Given the description of an element on the screen output the (x, y) to click on. 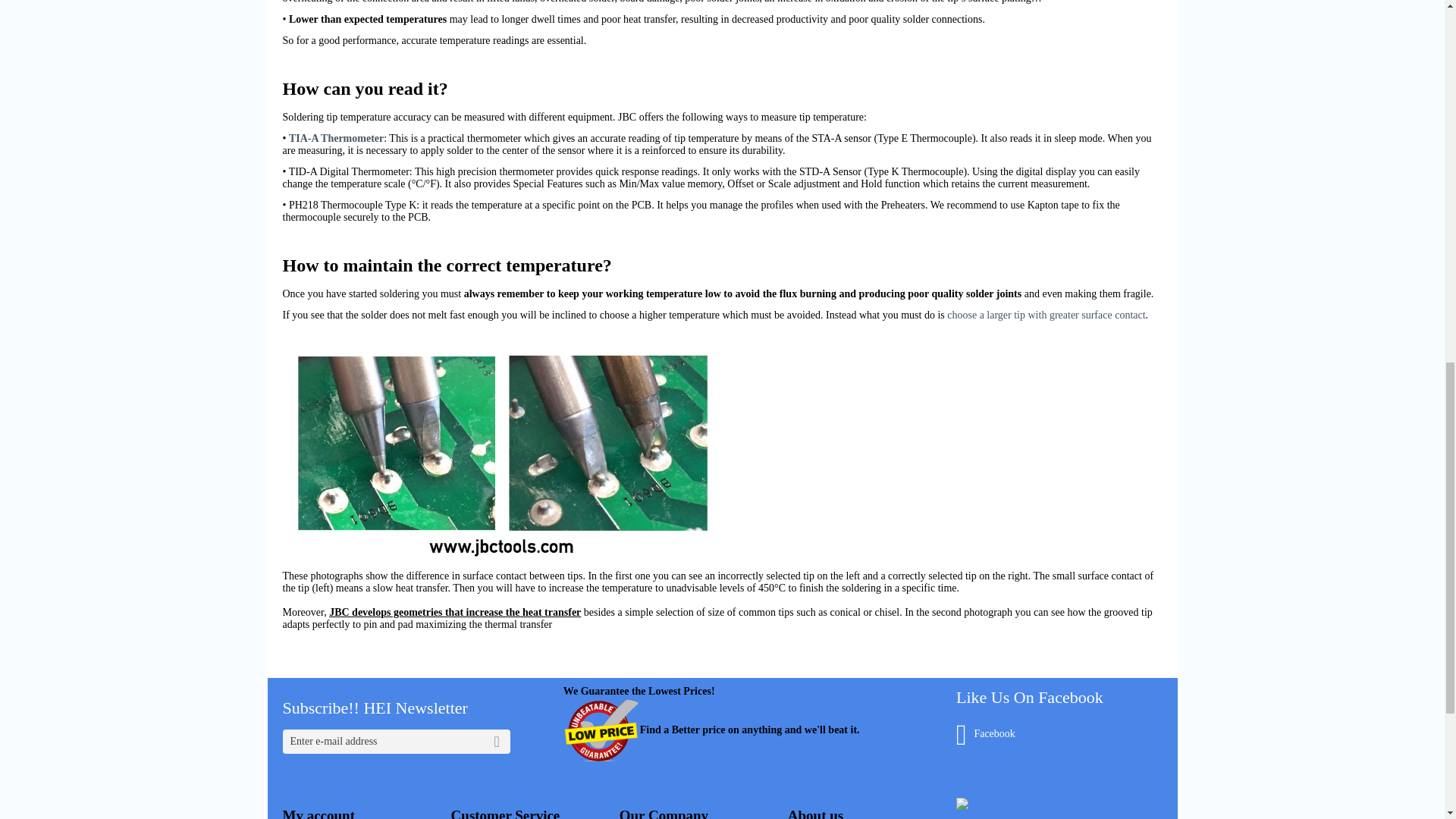
SiteLock (962, 803)
Enter e-mail address (395, 741)
Go (496, 741)
